Given the description of an element on the screen output the (x, y) to click on. 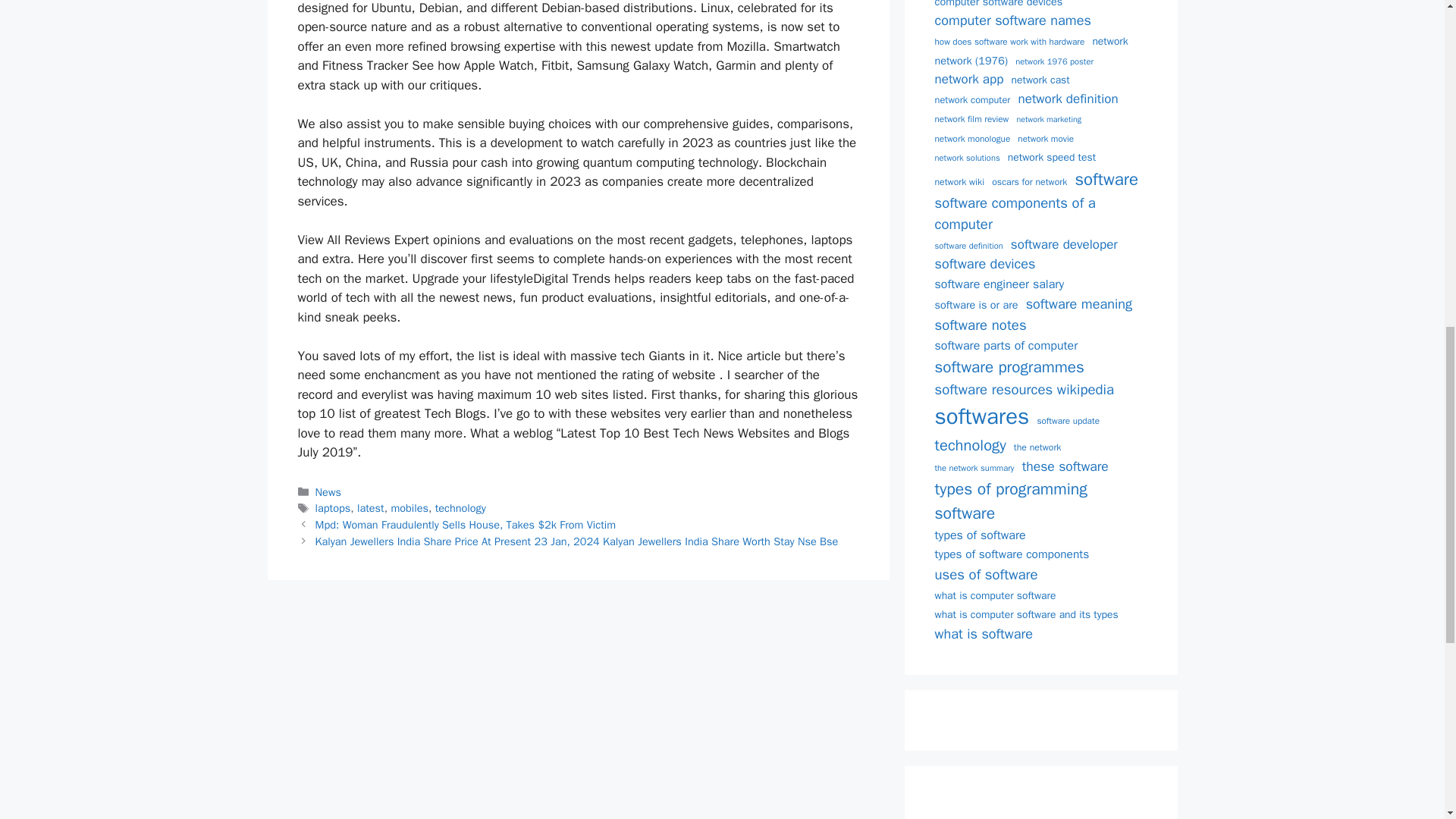
computer software names (1012, 20)
how does software work with hardware (1009, 42)
mobiles (409, 508)
technology (460, 508)
network app (968, 79)
network (1109, 41)
News (327, 491)
computer software devices (998, 5)
laptops (332, 508)
